Given the description of an element on the screen output the (x, y) to click on. 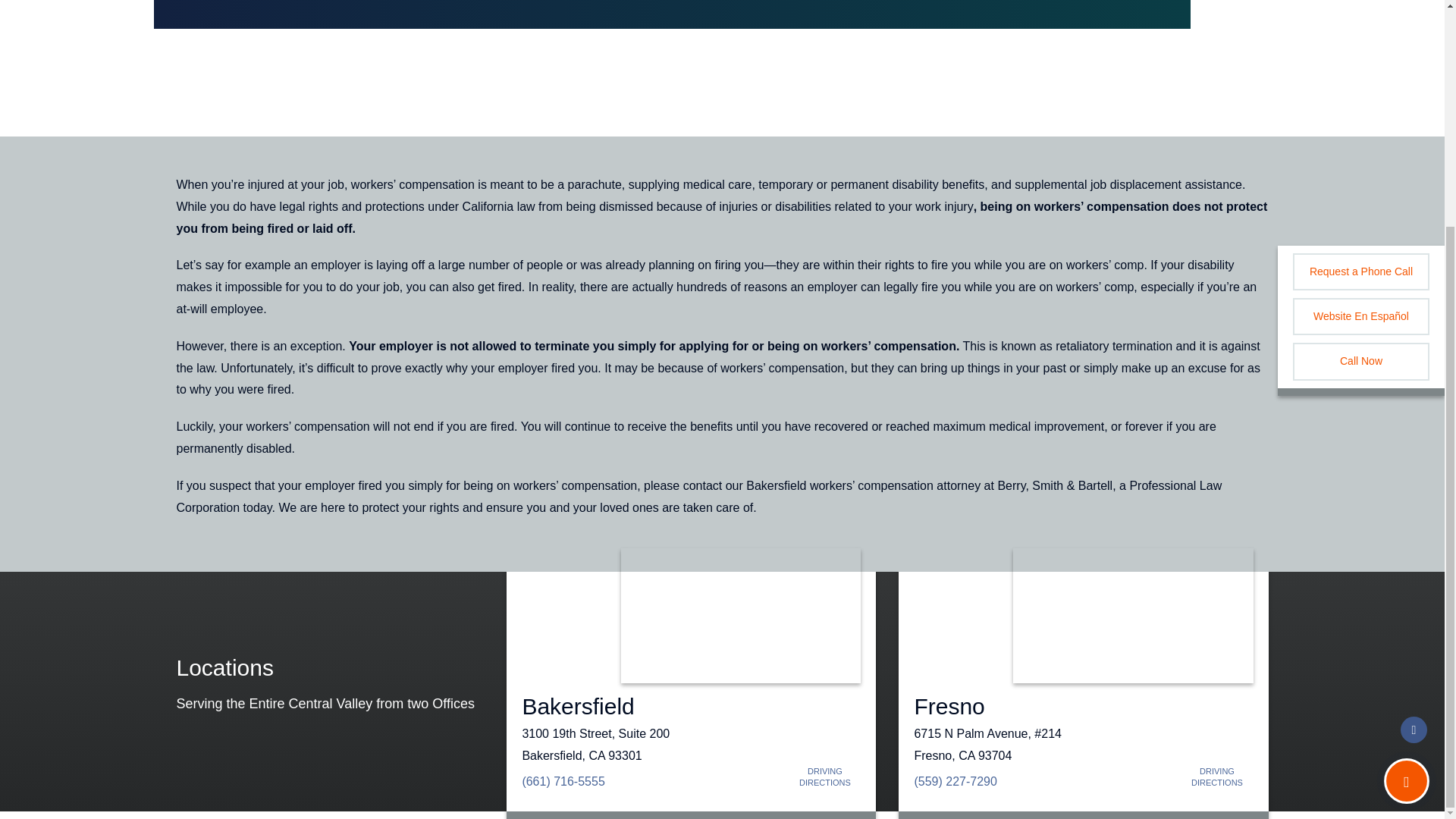
Call Now (1360, 57)
